Given the description of an element on the screen output the (x, y) to click on. 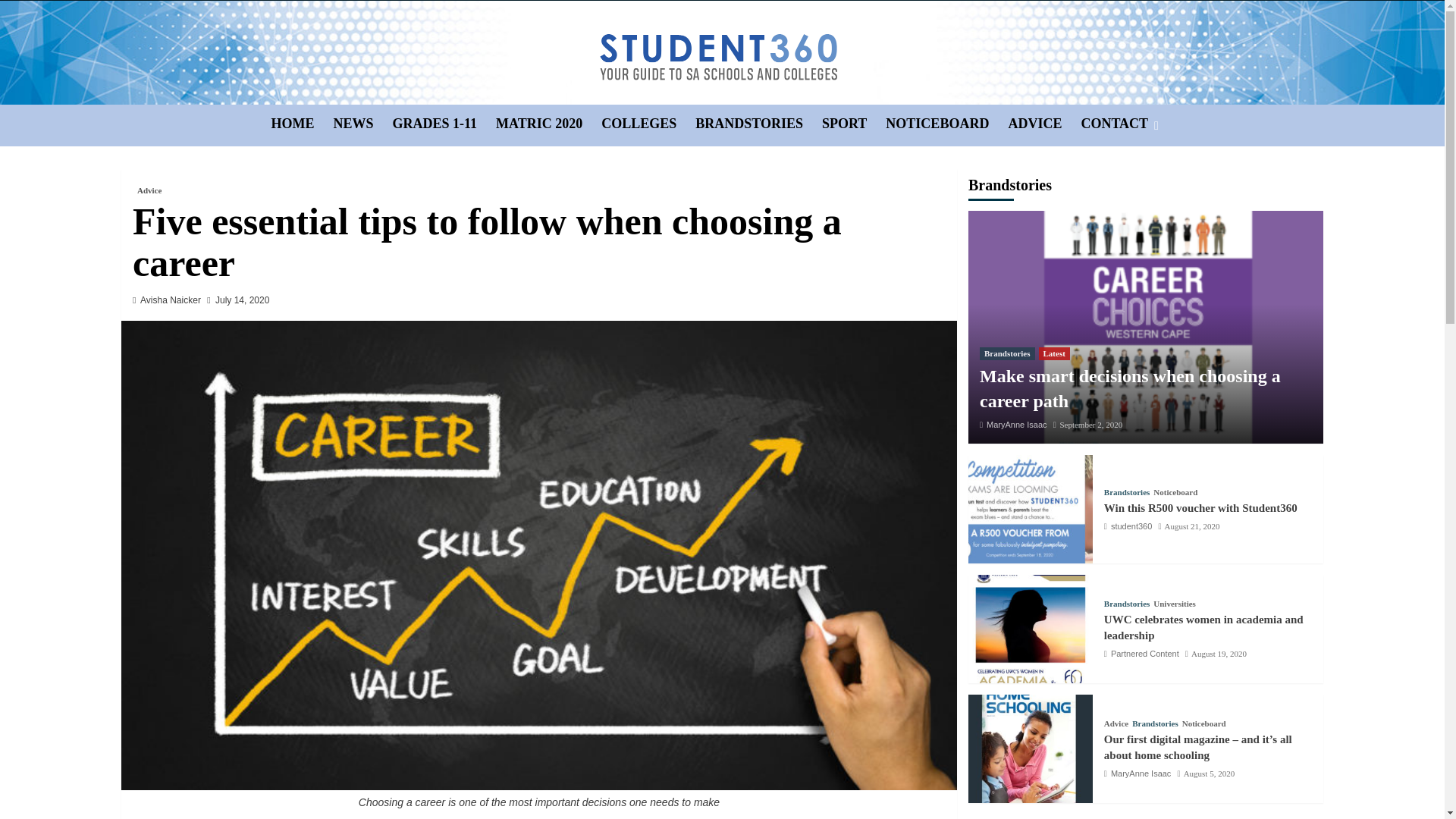
SPORT (853, 123)
Advice (148, 189)
HOME (301, 123)
NEWS (363, 123)
GRADES 1-11 (444, 123)
Search (1120, 171)
CONTACT (1123, 123)
BRANDSTORIES (758, 123)
NOTICEBOARD (946, 123)
ADVICE (1043, 123)
Avisha Naicker (169, 299)
COLLEGES (648, 123)
July 14, 2020 (242, 299)
MATRIC 2020 (548, 123)
